Given the description of an element on the screen output the (x, y) to click on. 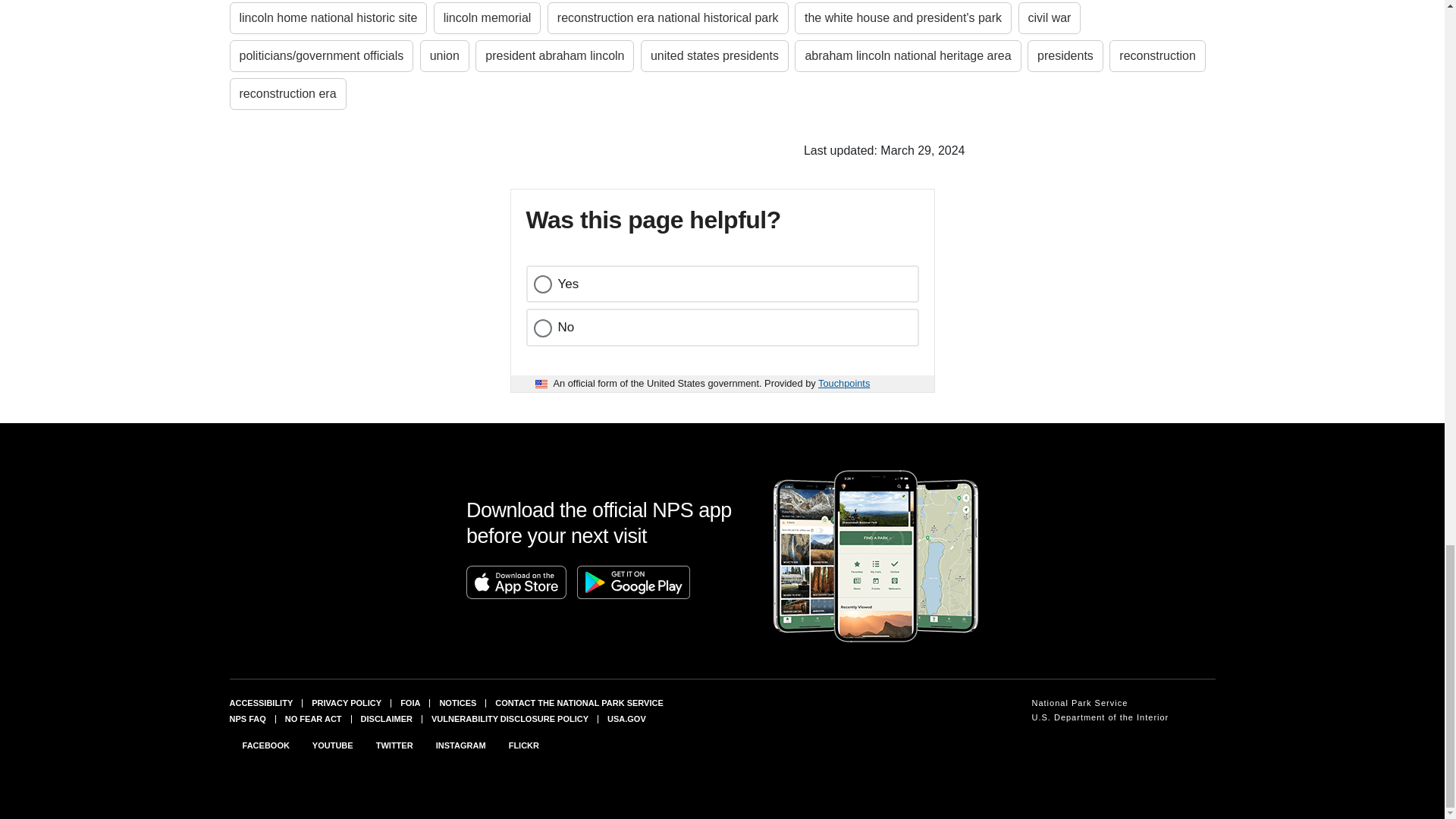
National Park Service frequently asked questions (246, 718)
